Given the description of an element on the screen output the (x, y) to click on. 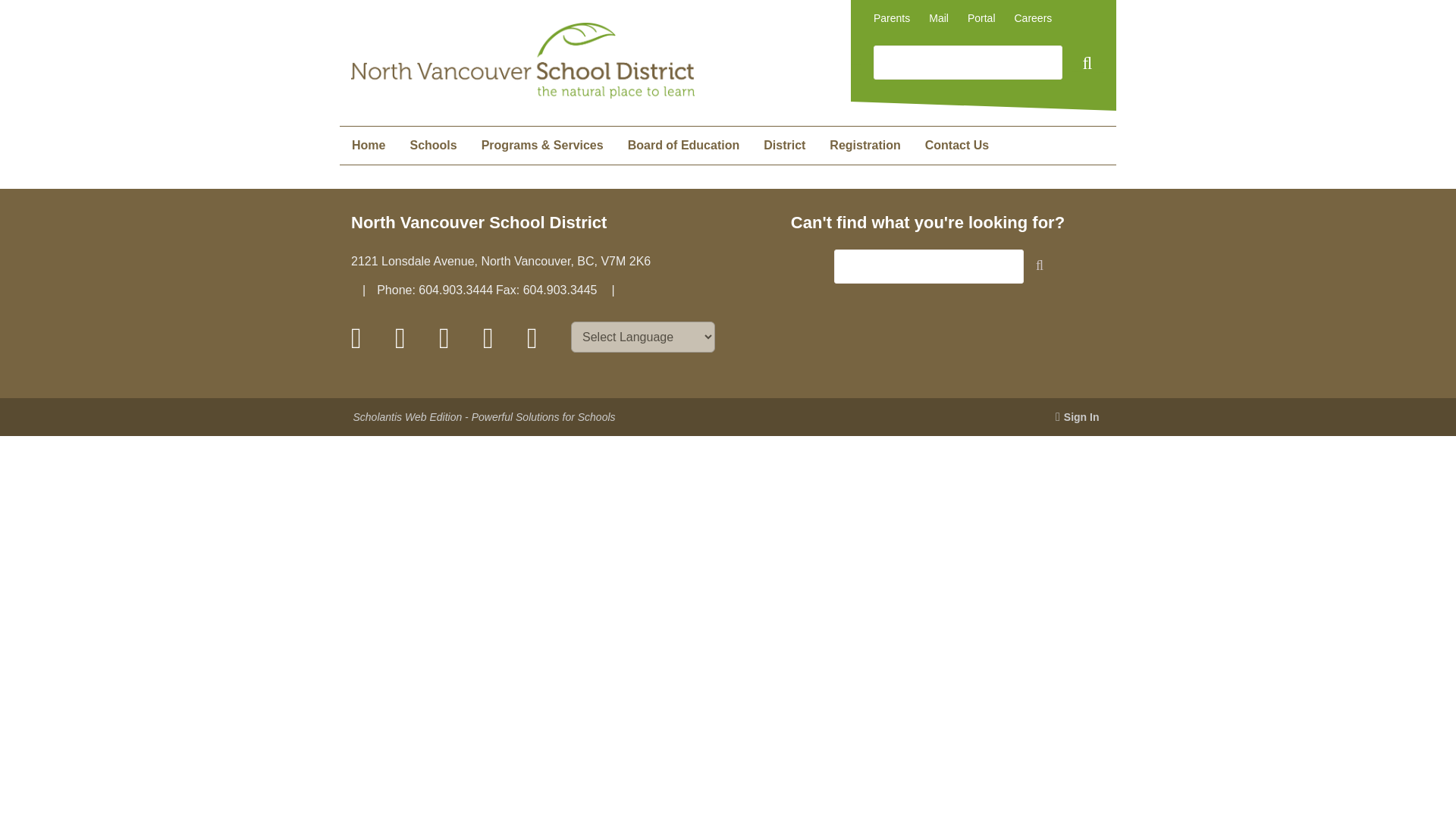
Search (1085, 64)
Mail (938, 18)
Schools (432, 145)
Search... (967, 62)
Portal (981, 18)
Parents (891, 18)
Home (368, 145)
A Scholantis site with a 2 column page layout. (956, 145)
Back to Home (522, 94)
Search... (928, 266)
